Given the description of an element on the screen output the (x, y) to click on. 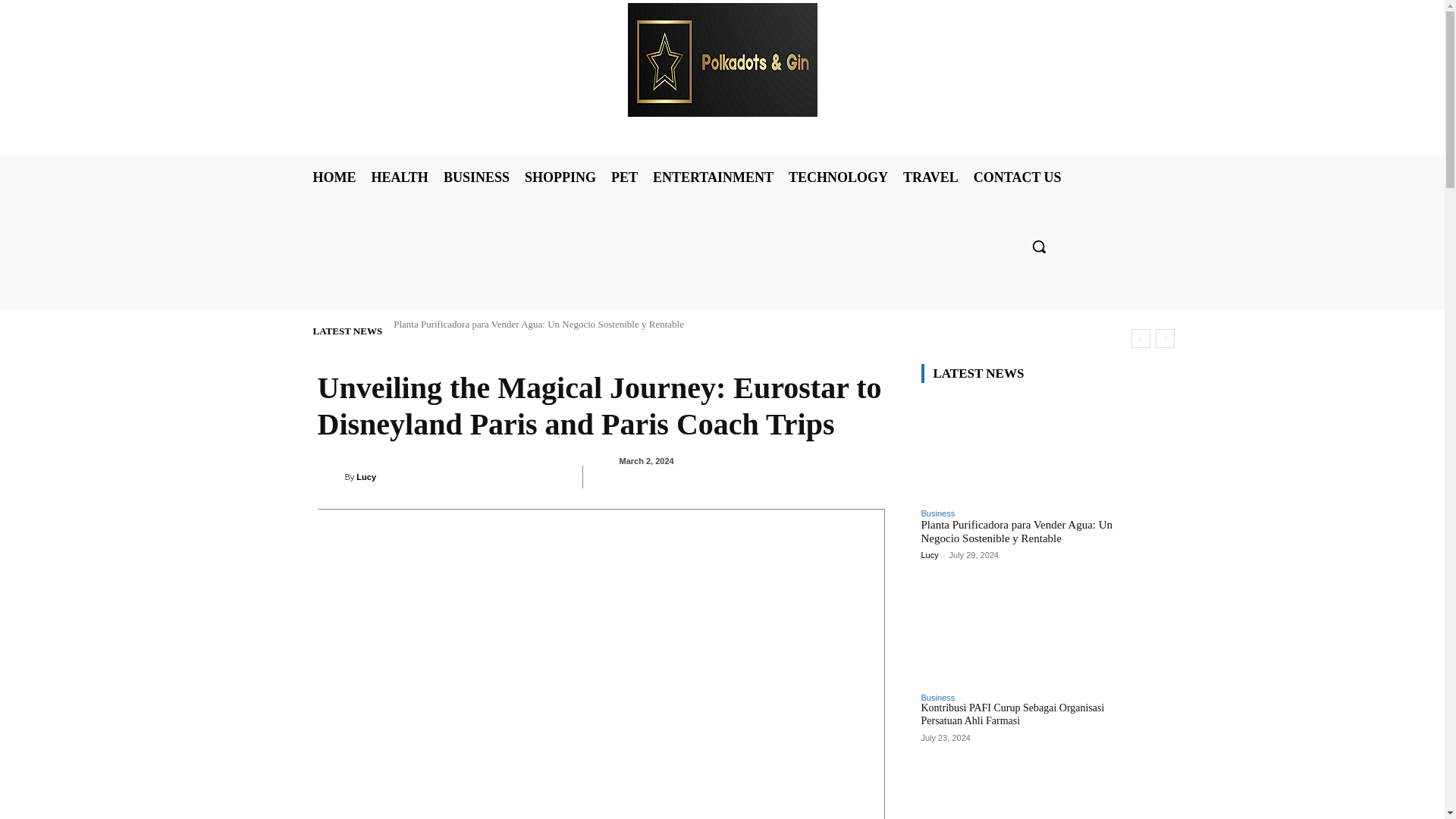
ENTERTAINMENT (712, 177)
HEALTH (399, 177)
HOME (333, 177)
BUSINESS (476, 177)
SHOPPING (560, 177)
TECHNOLOGY (838, 177)
PET (624, 177)
